Given the description of an element on the screen output the (x, y) to click on. 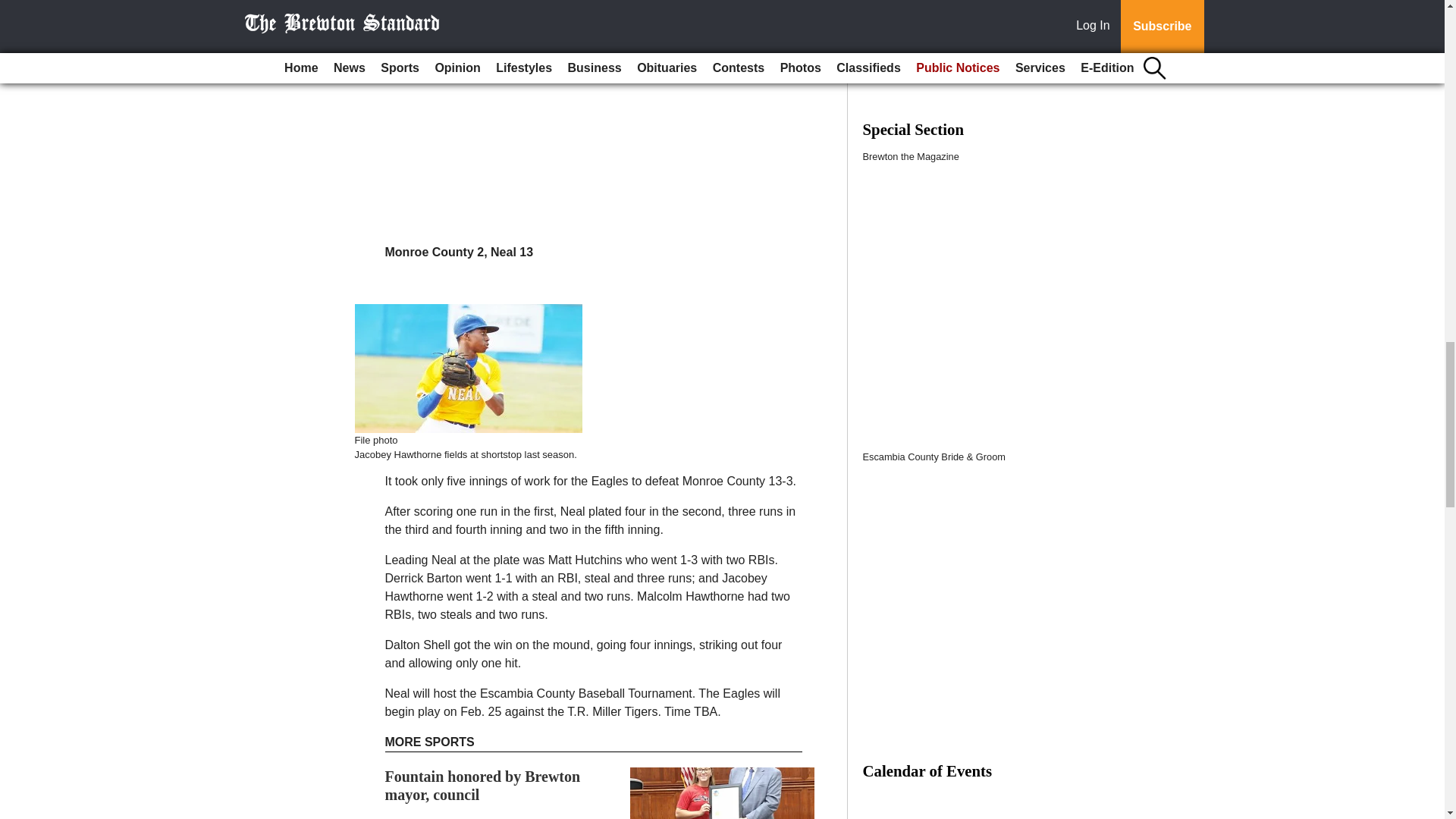
Fountain honored by Brewton mayor, council (482, 785)
Fountain honored by Brewton mayor, council (482, 785)
